Given the description of an element on the screen output the (x, y) to click on. 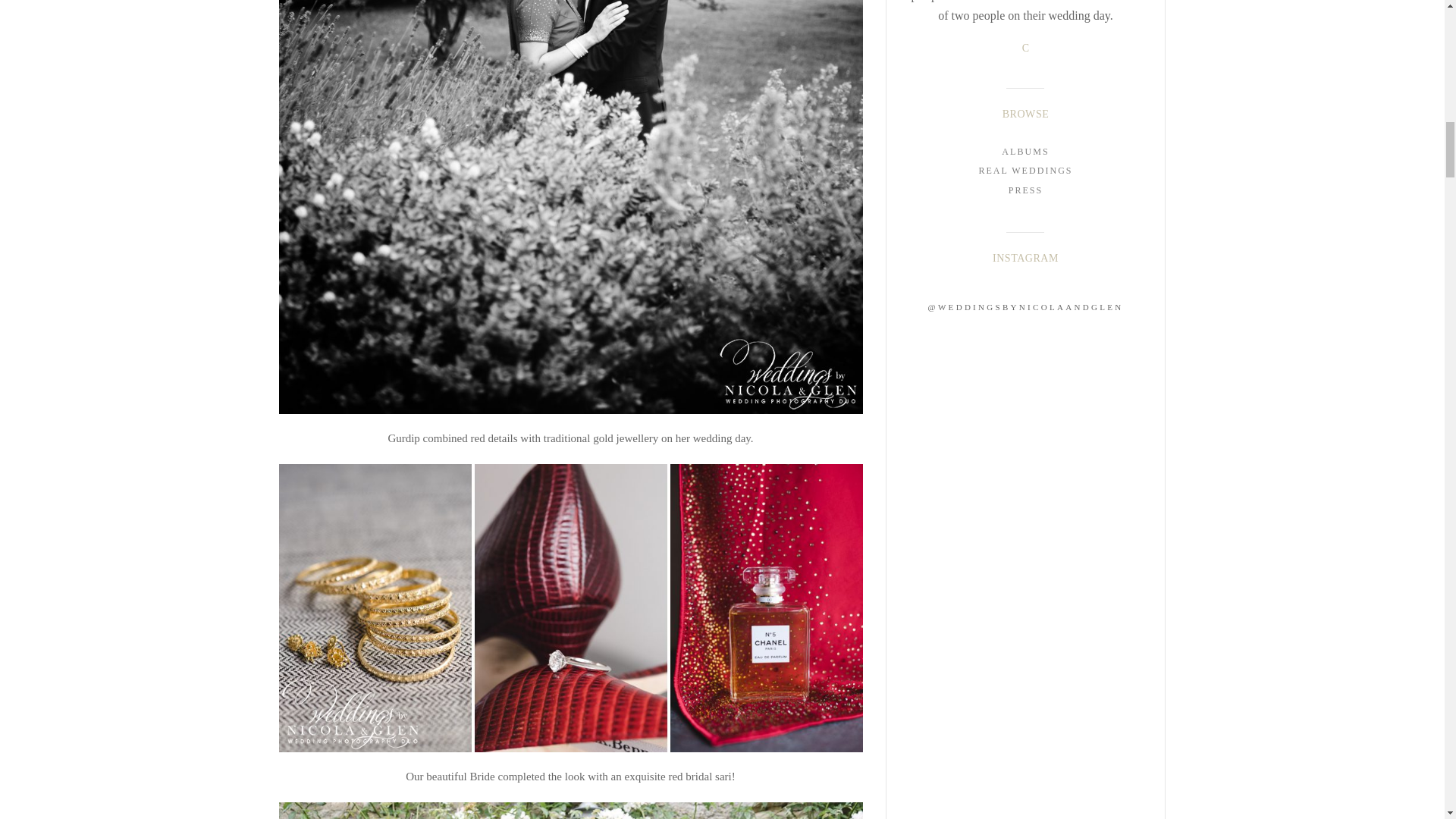
ALBUMS (1025, 151)
PRESS (1025, 189)
REAL WEDDINGS (1025, 170)
